Given the description of an element on the screen output the (x, y) to click on. 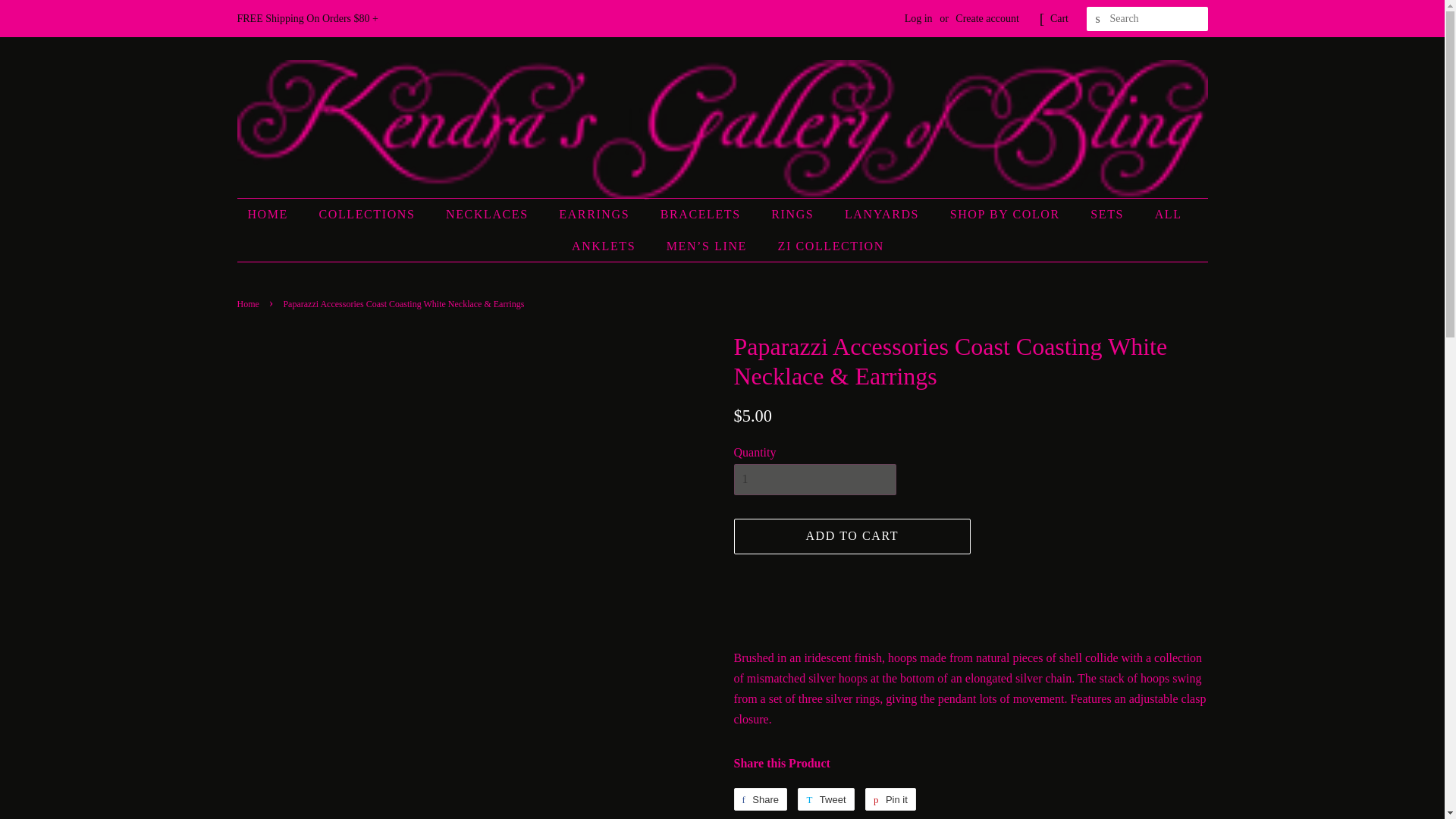
ZI COLLECTION (825, 245)
1 (814, 479)
Share on Facebook (760, 798)
SHOP BY COLOR (1007, 214)
LANYARDS (883, 214)
SEARCH (1097, 18)
EARRINGS (596, 214)
Tweet on Twitter (825, 798)
COLLECTIONS (368, 214)
Log in (918, 18)
